Given the description of an element on the screen output the (x, y) to click on. 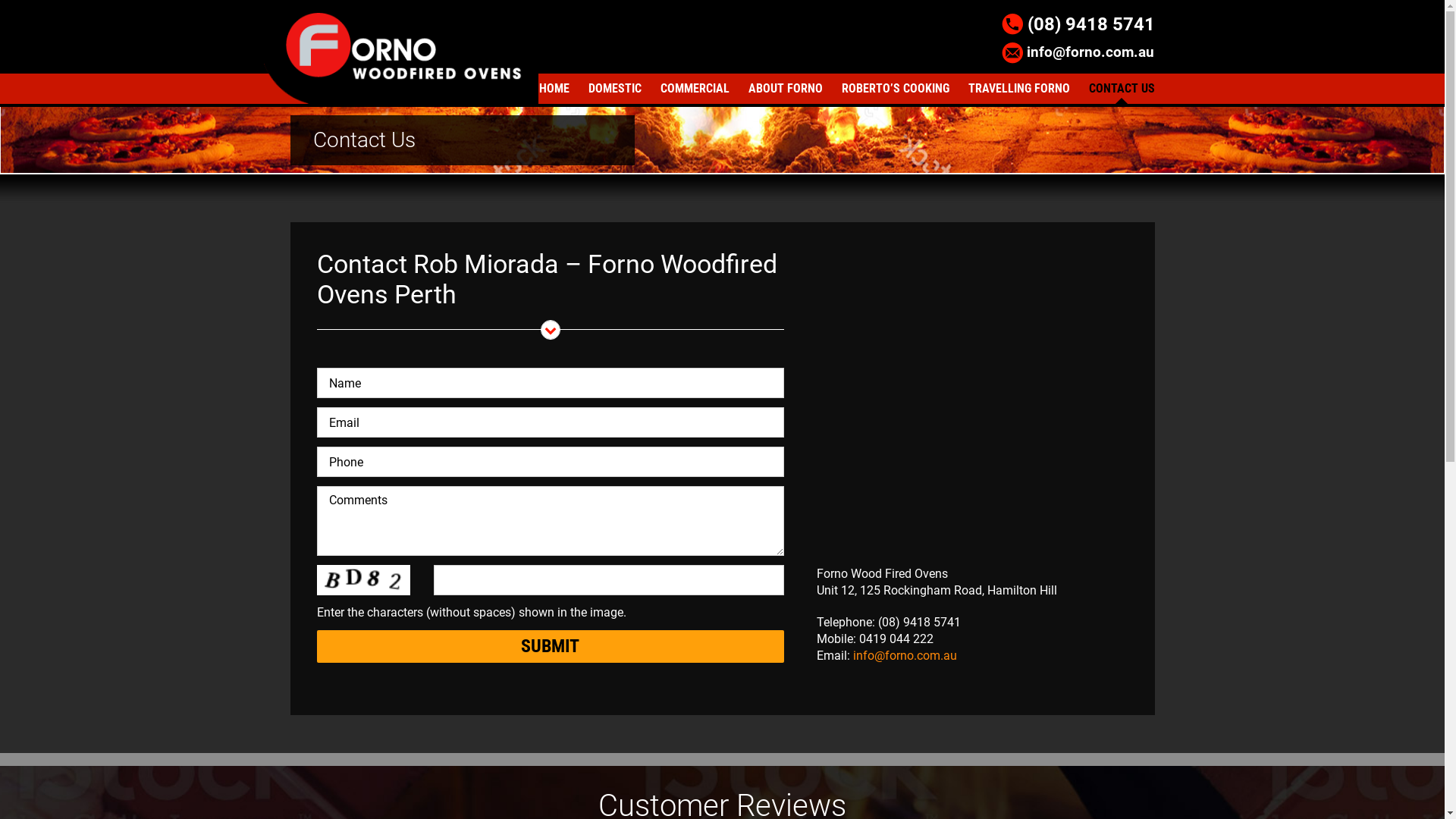
0419 044 222 Element type: text (896, 638)
info@forno.com.au Element type: text (905, 655)
(08) 9418 5741 Element type: text (1077, 23)
(08) 9418 5741 Element type: text (919, 622)
CONTACT US Element type: text (1121, 88)
TRAVELLING FORNO Element type: text (1018, 88)
info@forno.com.au Element type: text (1077, 52)
DOMESTIC Element type: text (614, 88)
Submit Element type: text (550, 646)
ABOUT FORNO Element type: text (784, 88)
COMMERCIAL Element type: text (693, 88)
HOME Element type: text (553, 88)
